Given the description of an element on the screen output the (x, y) to click on. 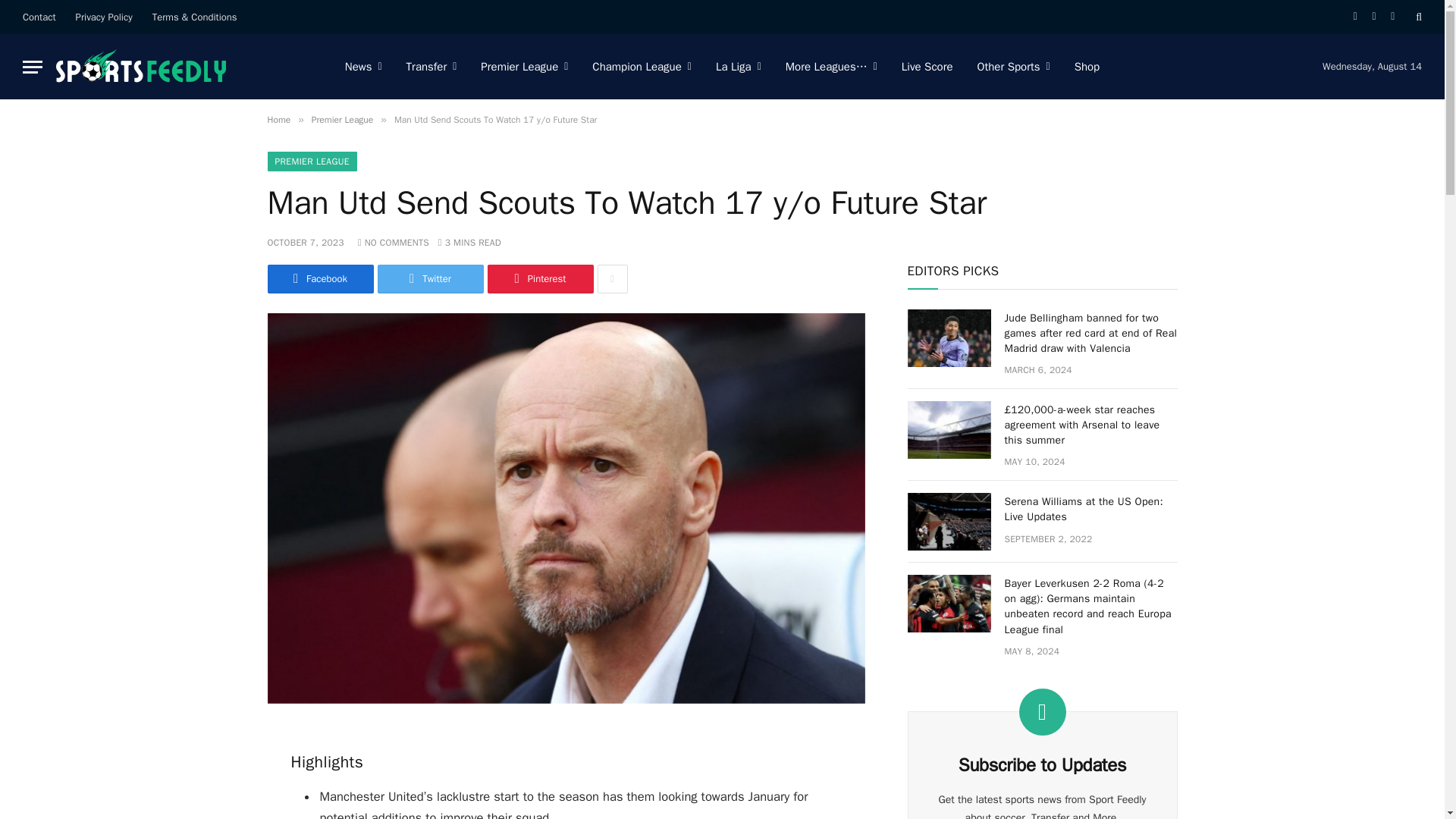
Privacy Policy (103, 17)
Sport Feedly (141, 67)
News (363, 66)
Contact (39, 17)
